Given the description of an element on the screen output the (x, y) to click on. 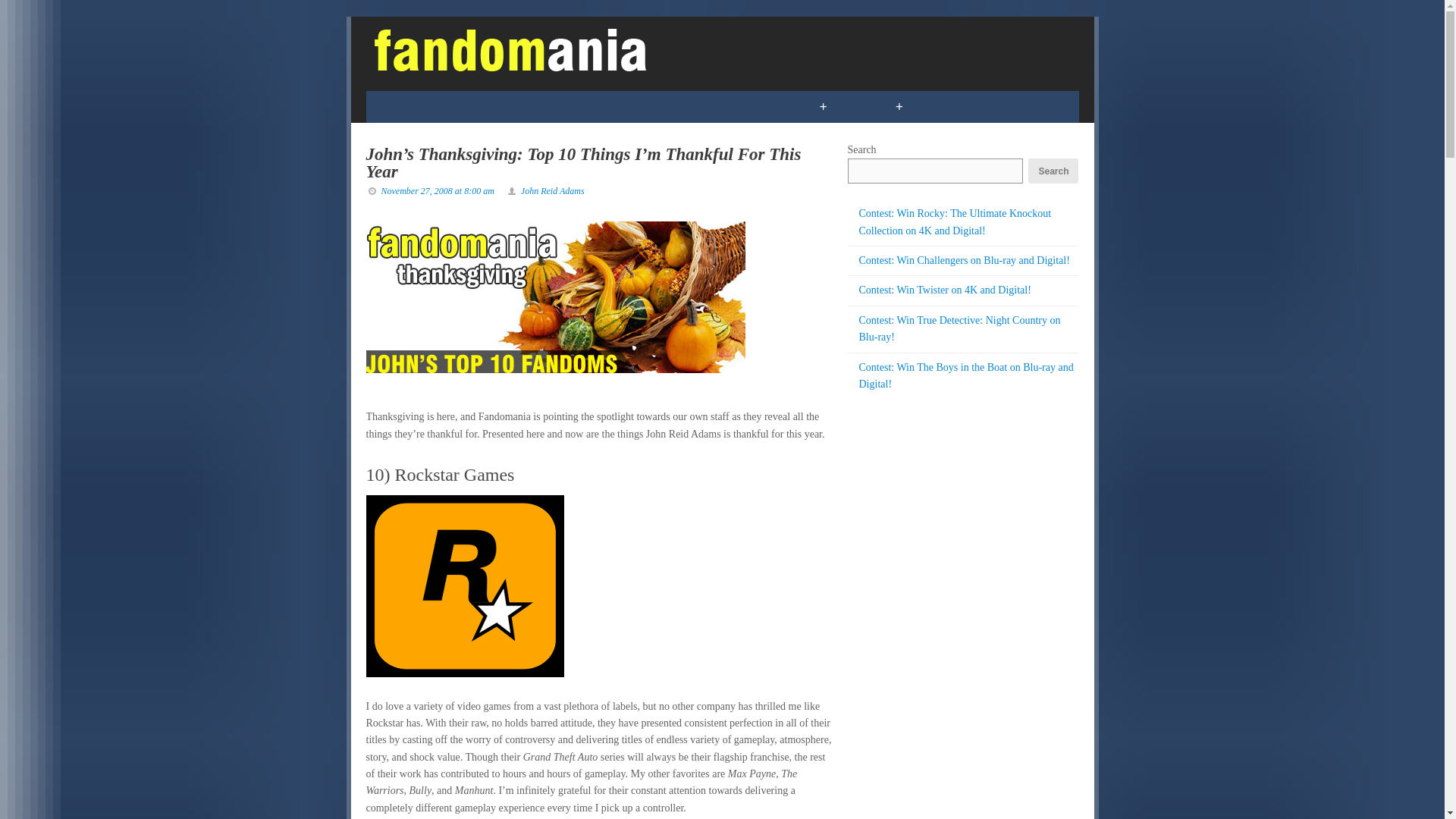
Posts by John Reid Adams (553, 190)
thanksgiving-john (554, 297)
About (1015, 106)
Comics (403, 106)
Games (478, 106)
Contests (757, 106)
John Reid Adams (553, 190)
TV (539, 106)
November 27, 2008 at 8:00 am (436, 190)
Movies (602, 106)
Music (676, 106)
